Given the description of an element on the screen output the (x, y) to click on. 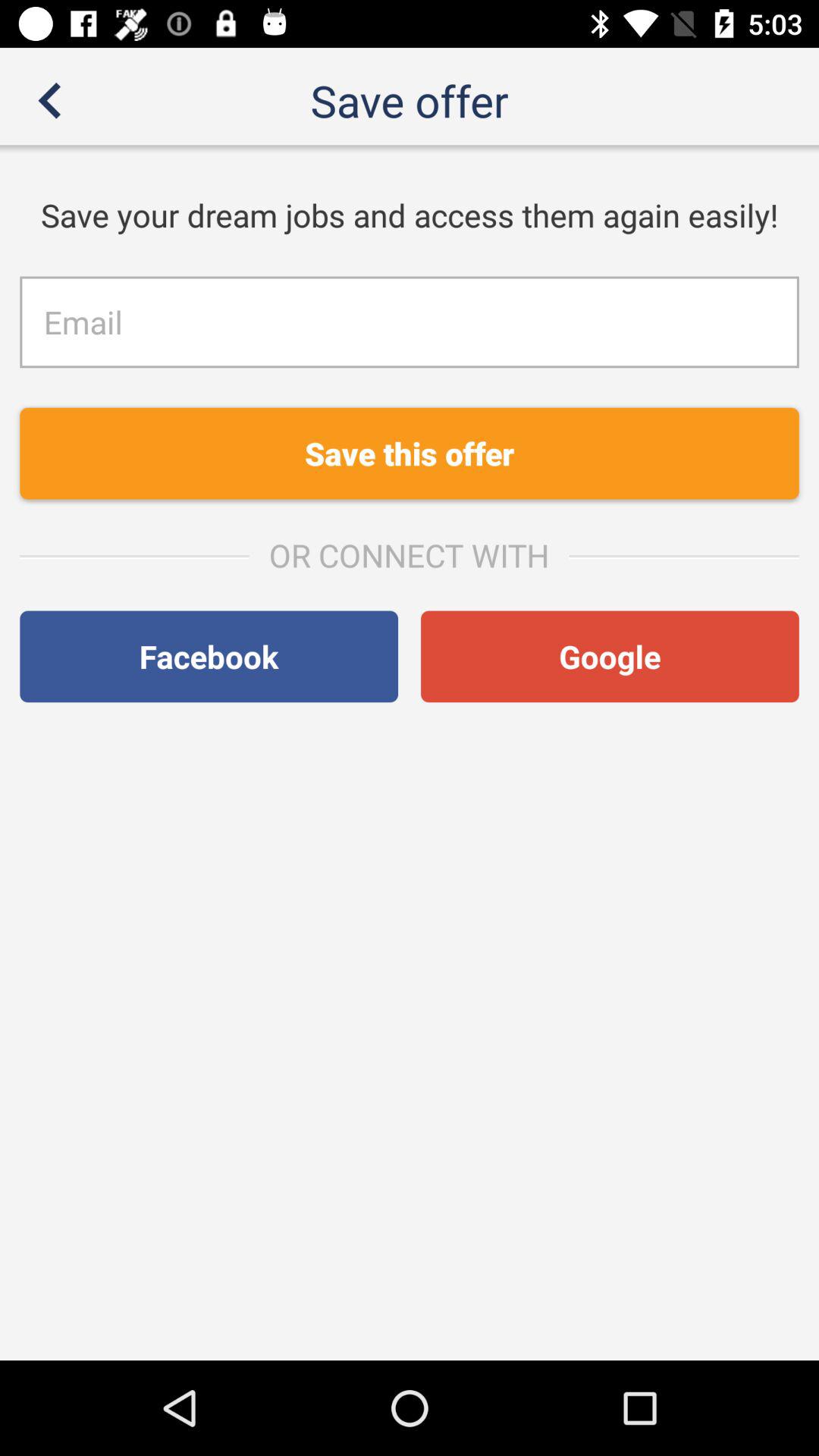
fill in the email (409, 321)
